Given the description of an element on the screen output the (x, y) to click on. 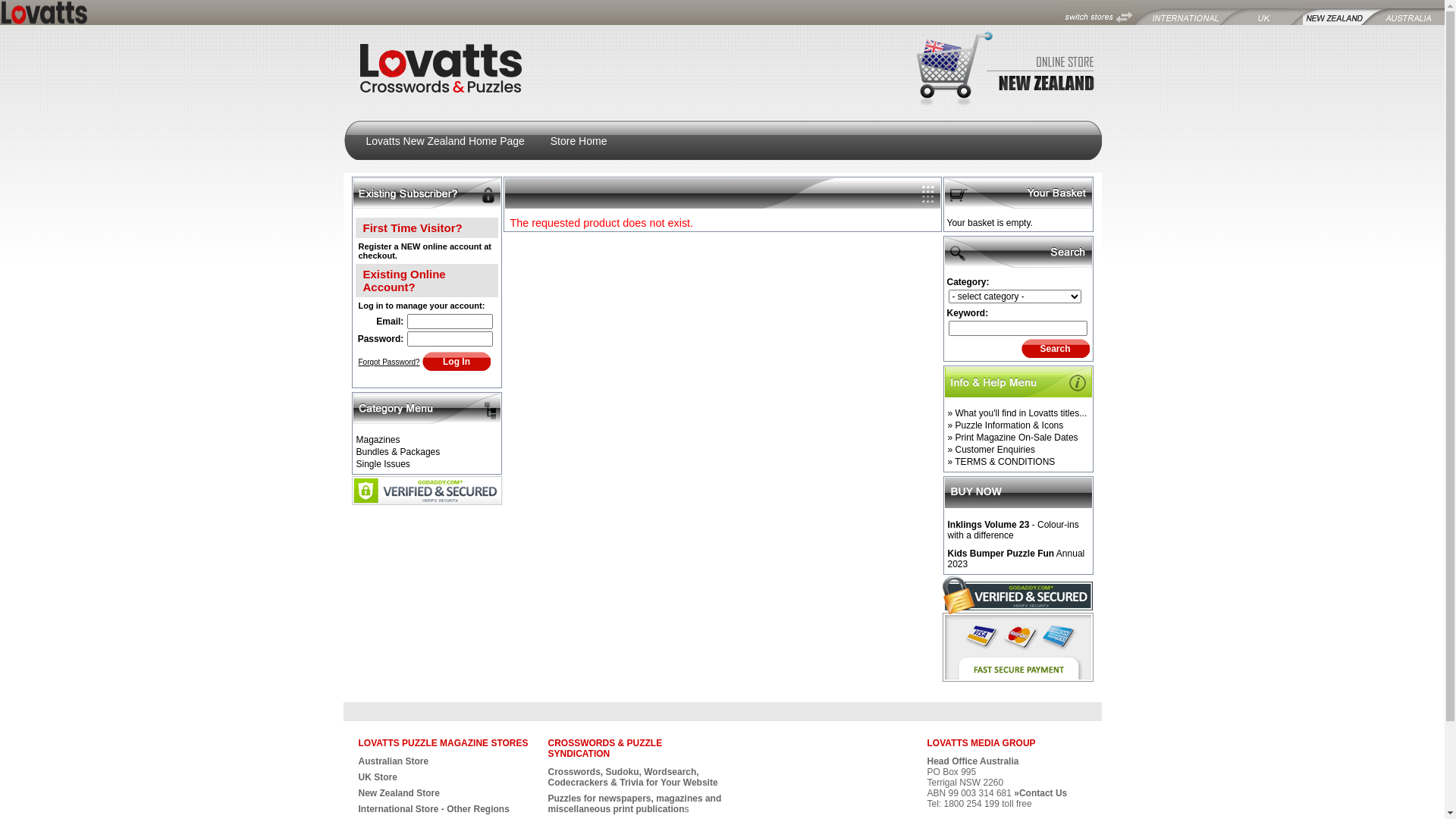
International Store - Other Regions Element type: text (432, 808)
UK Store Element type: text (376, 776)
Magazines Element type: text (428, 439)
Inklings Volume 23 - Colour-ins with a difference Element type: text (1019, 529)
Kids Bumper Puzzle Fun Annual 2023 Element type: text (1019, 558)
Forgot Password? Element type: text (388, 361)
Australian Store Element type: text (392, 761)
Bundles & Packages Element type: text (428, 451)
Search Element type: text (1054, 347)
Single Issues Element type: text (428, 463)
Lovatts New Zealand Home Page Element type: text (444, 140)
Store Home Element type: text (578, 140)
New Zealand Store Element type: text (398, 792)
Log In Element type: text (456, 360)
